Given the description of an element on the screen output the (x, y) to click on. 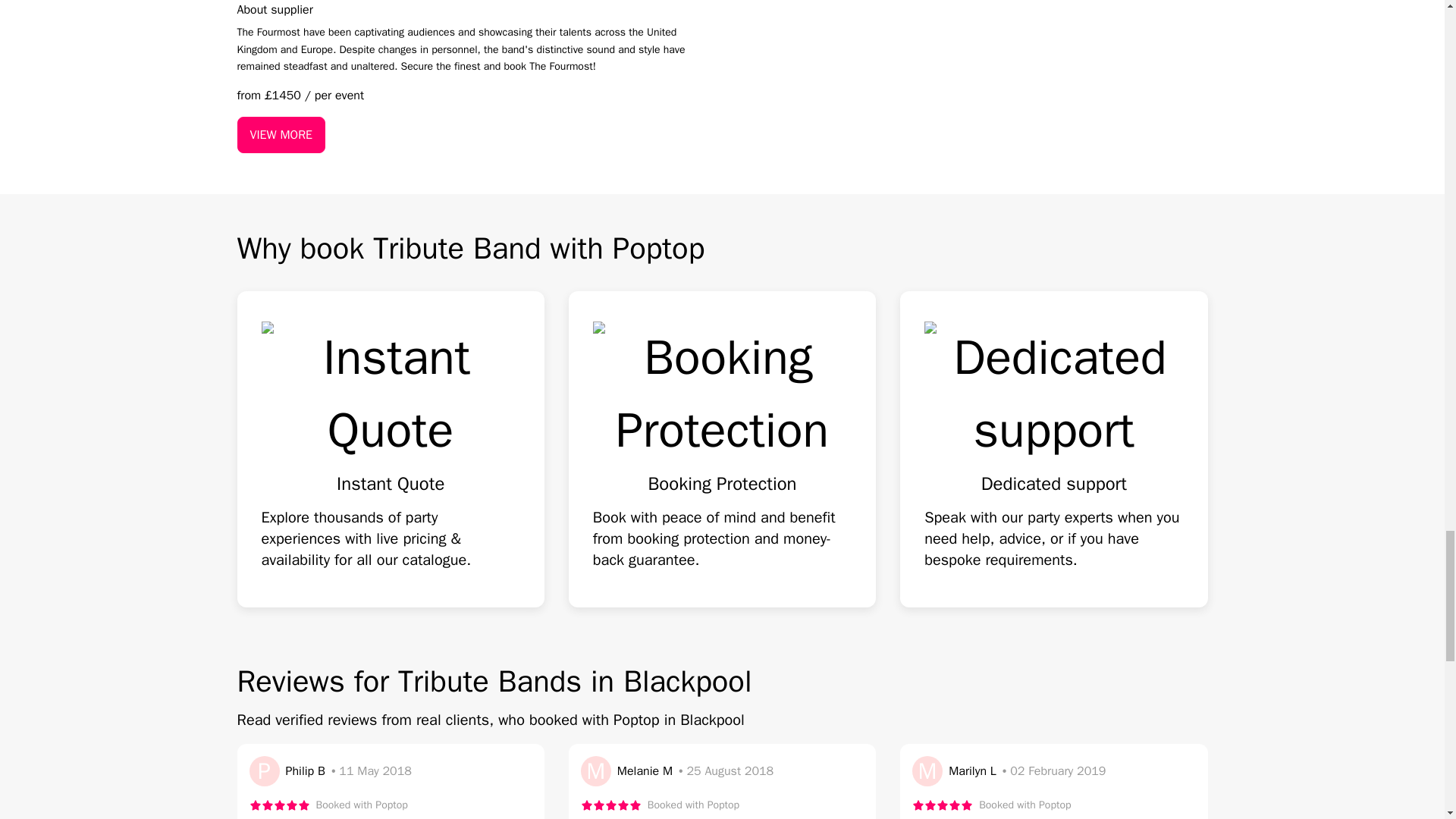
VIEW MORE (279, 135)
